Given the description of an element on the screen output the (x, y) to click on. 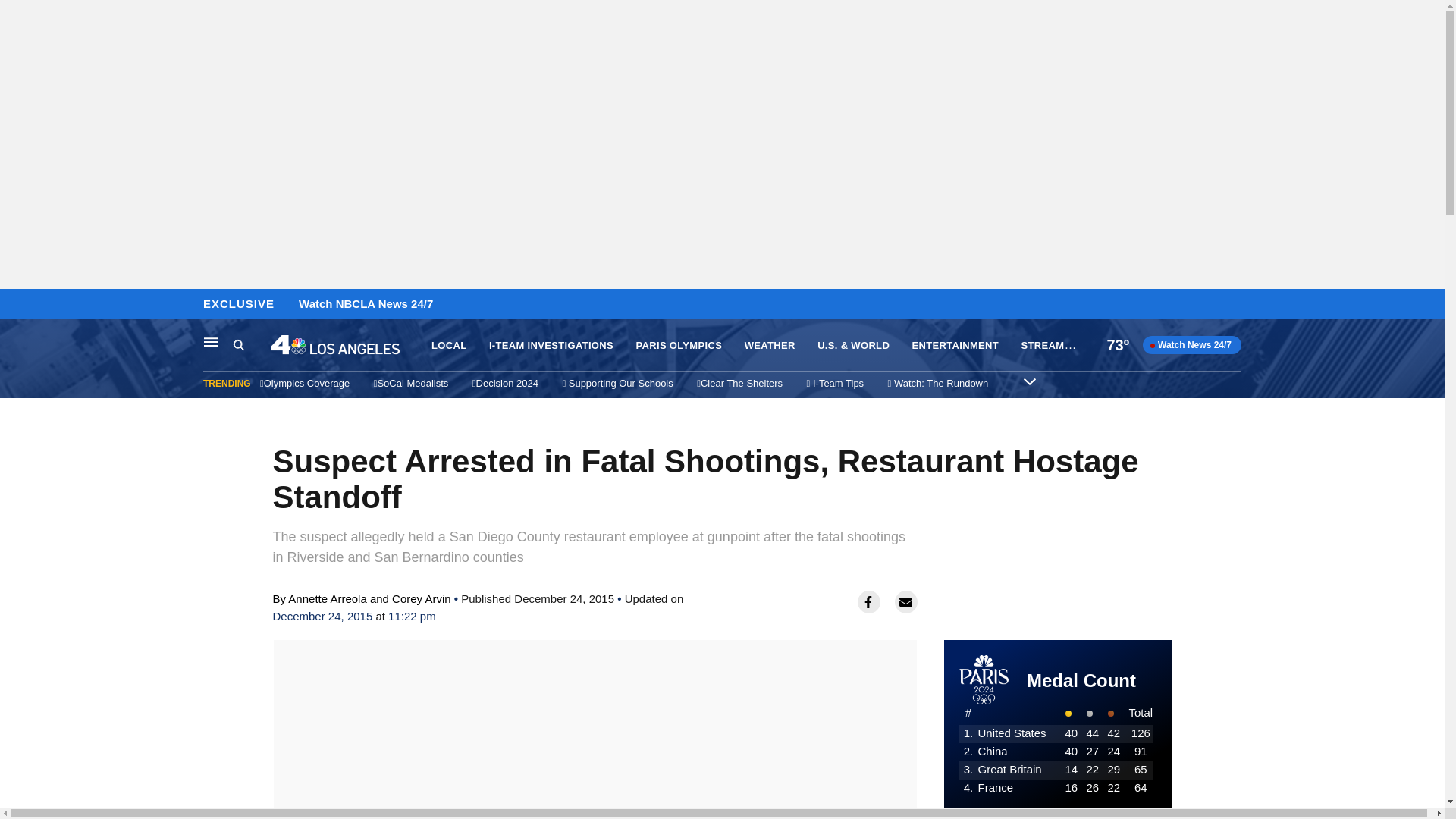
Search (238, 344)
Main Navigation (210, 341)
Expand (1029, 381)
Skip to content (16, 304)
Search (252, 345)
WEATHER (769, 345)
ENTERTAINMENT (955, 345)
I-TEAM INVESTIGATIONS (550, 345)
PARIS OLYMPICS (678, 345)
LOCAL (447, 345)
